Given the description of an element on the screen output the (x, y) to click on. 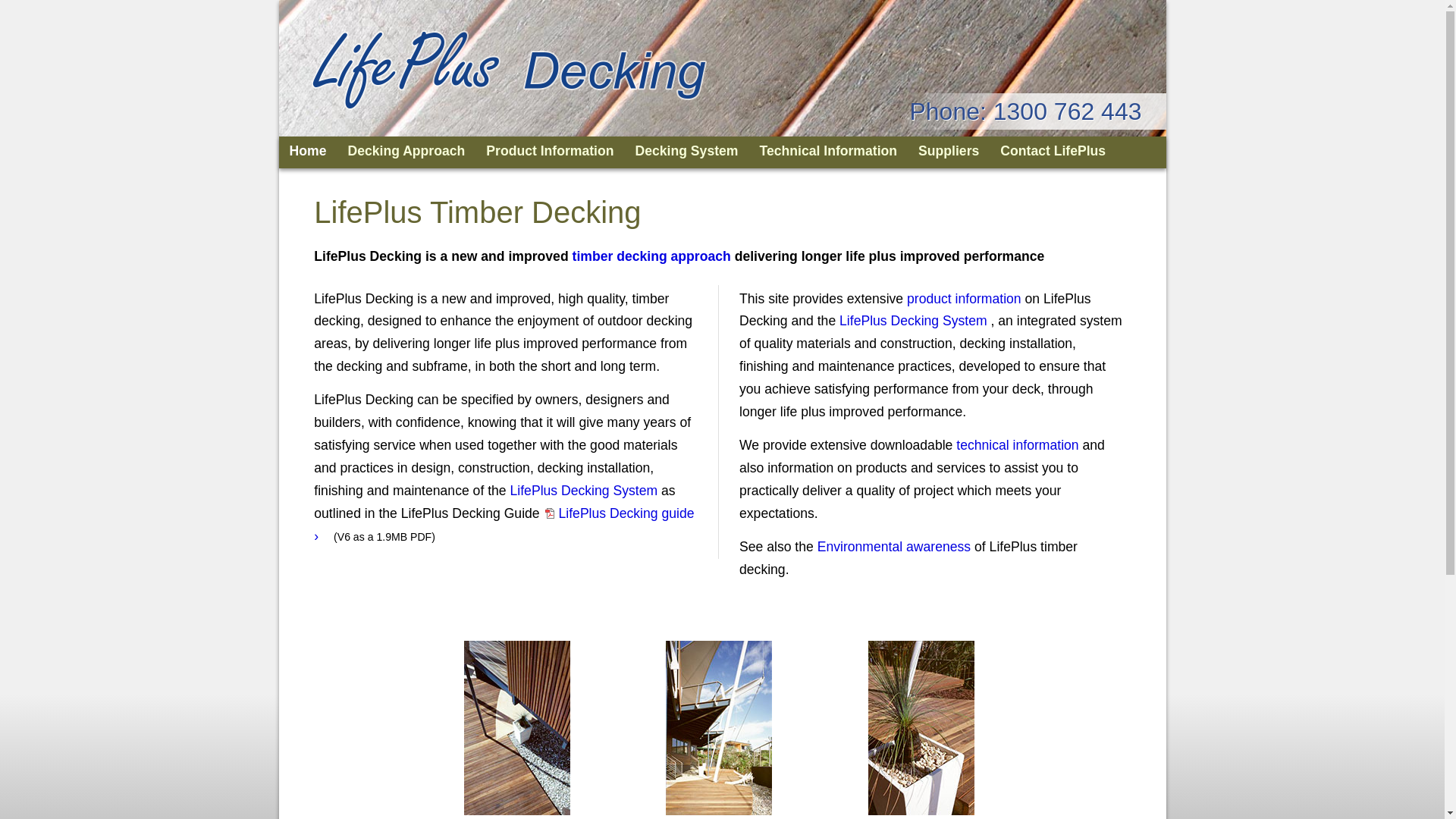
Contact LifePlus Element type: text (1052, 150)
Decking System Element type: text (686, 150)
LifePlus is an improved approach to timber decking Element type: hover (517, 727)
technical information Element type: text (1017, 444)
Technical Information Element type: text (828, 150)
Suppliers Element type: text (948, 150)
Product Information Element type: text (549, 150)
Environmental awareness Element type: text (893, 546)
LifePlus Decking System Element type: text (584, 490)
product information Element type: text (963, 298)
LifePlus timber decking product information Element type: hover (718, 727)
Decking Approach Element type: text (405, 150)
1300 762 443 Element type: text (1067, 111)
LifePlus Decking System Element type: text (913, 320)
LifePlus timber decking technical information Element type: hover (921, 727)
timber decking approach Element type: text (651, 255)
